Given the description of an element on the screen output the (x, y) to click on. 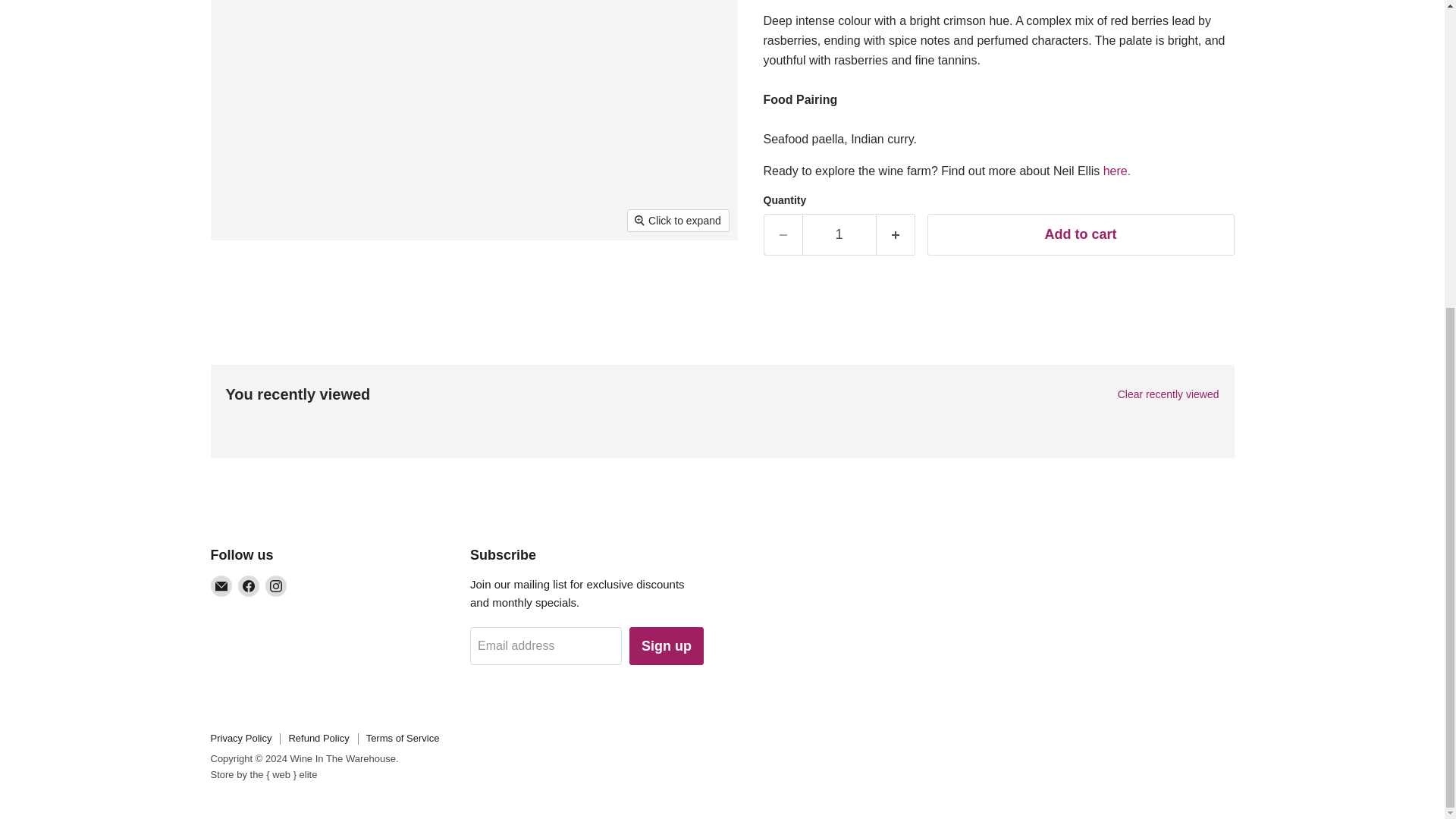
Neil Ellis wine farm (1117, 170)
Facebook (248, 586)
1 (839, 234)
Instagram (275, 586)
Email (221, 586)
